Given the description of an element on the screen output the (x, y) to click on. 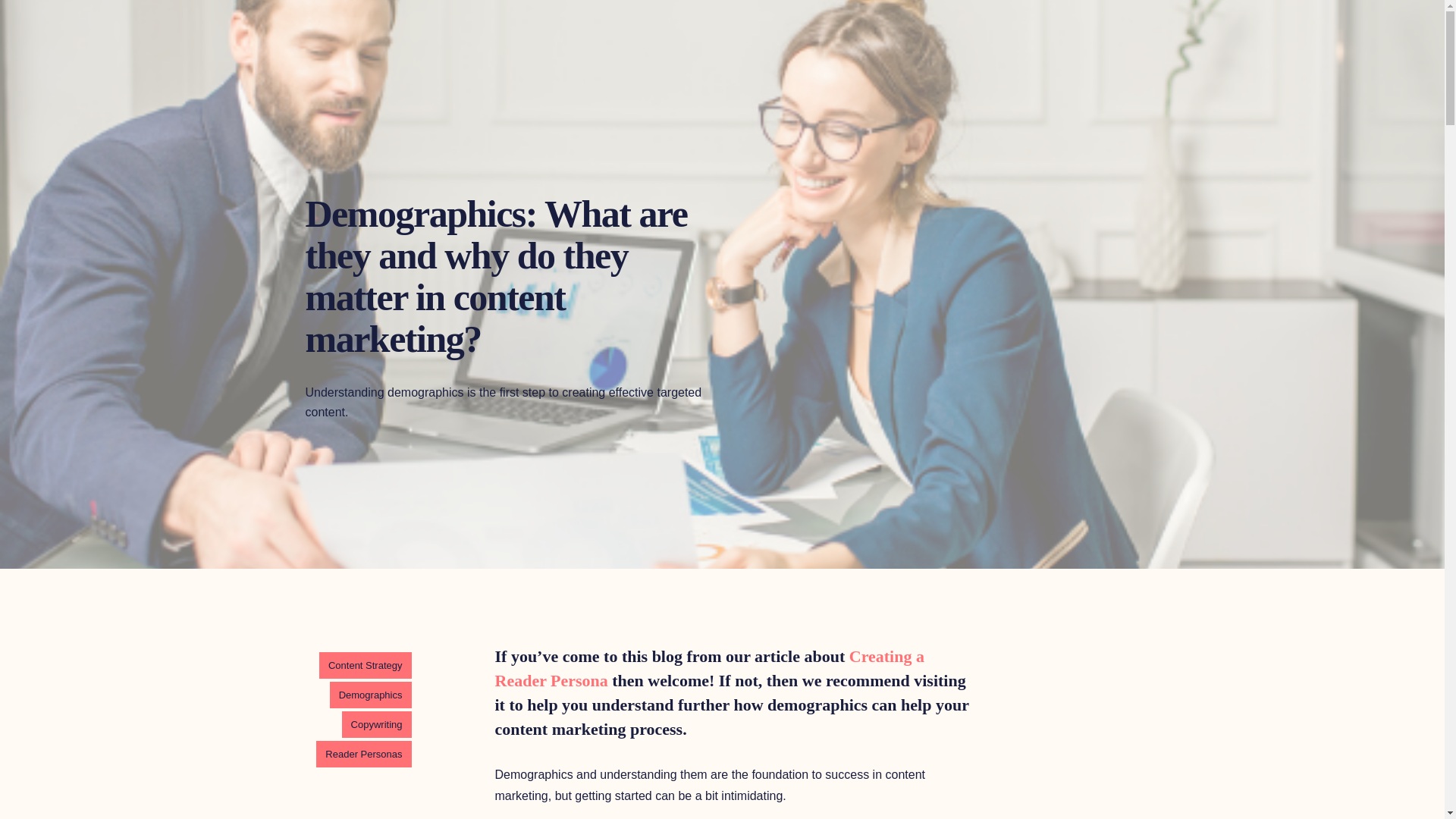
Demographics (371, 694)
Reader Personas (362, 754)
Copywriting (377, 724)
Creating a Reader Persona (709, 668)
Content Strategy (365, 664)
